Given the description of an element on the screen output the (x, y) to click on. 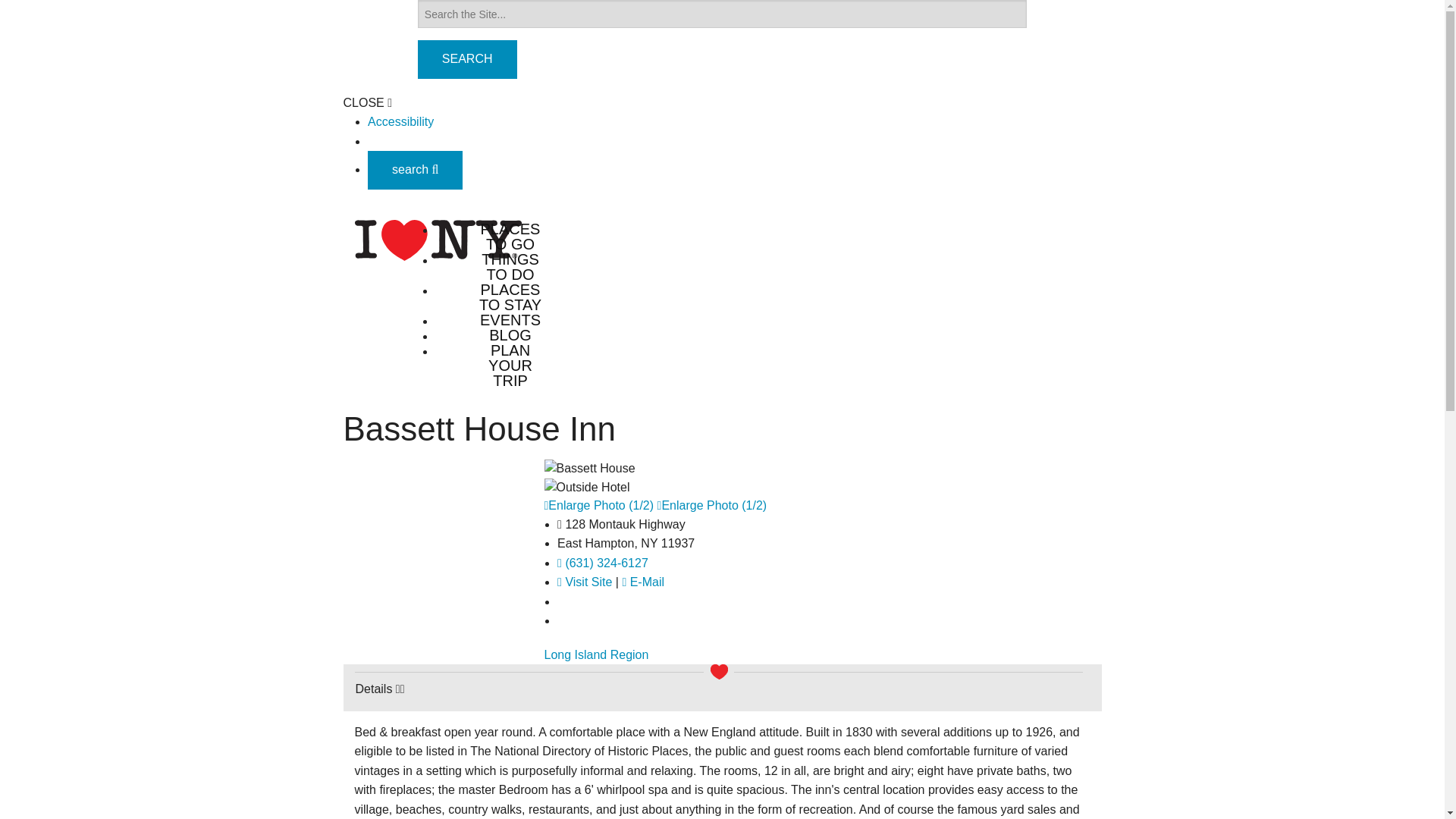
Accessibility (400, 121)
PLACES TO GO (510, 236)
search (415, 169)
SEARCH (466, 59)
search (415, 169)
